Given the description of an element on the screen output the (x, y) to click on. 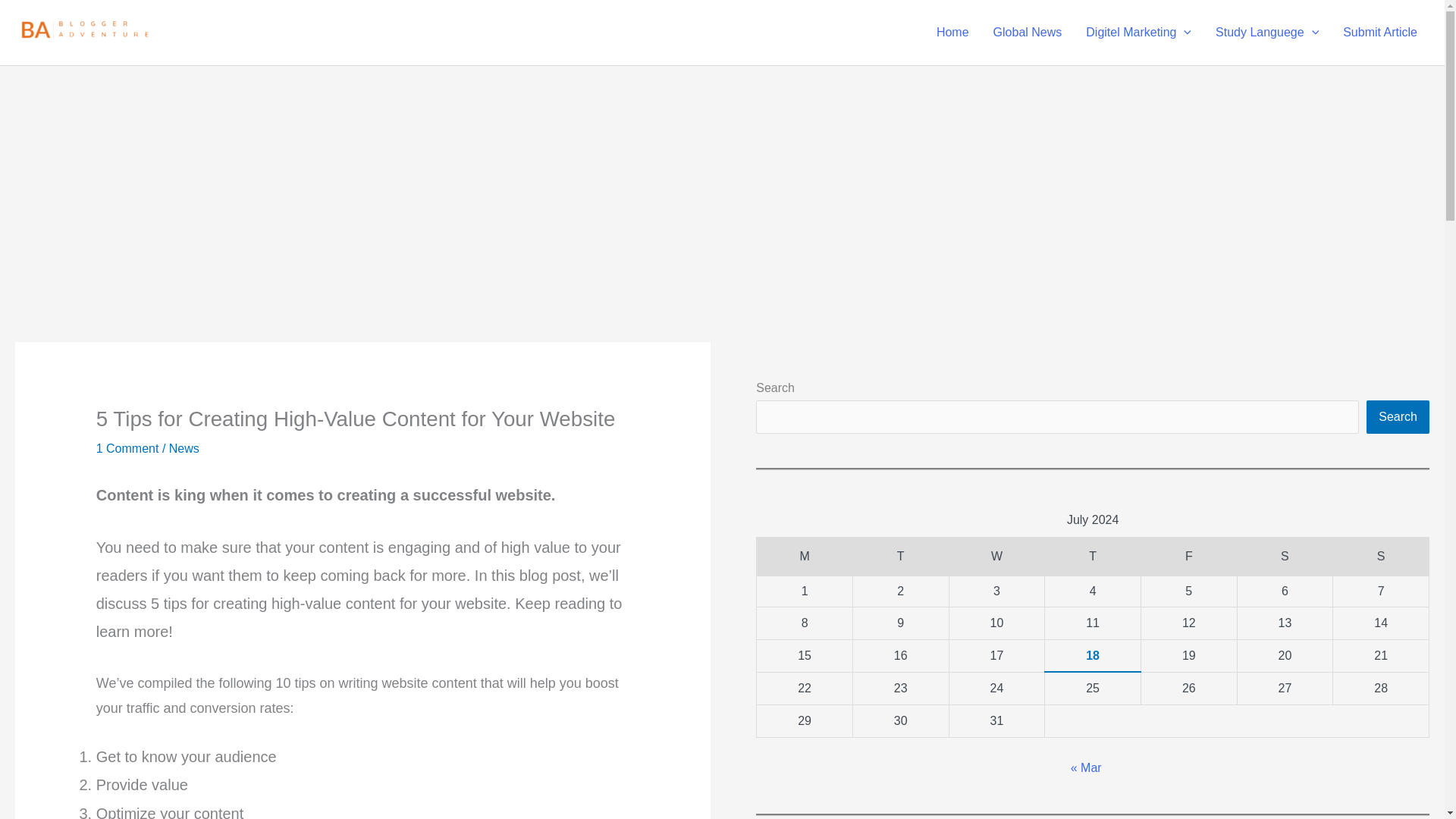
1 Comment (127, 448)
Study Languege (1267, 31)
Tuesday (900, 556)
Home (952, 31)
Wednesday (997, 556)
Global News (1027, 31)
Digitel Marketing (1139, 31)
Saturday (1284, 556)
Submit Article (1379, 31)
Monday (805, 556)
Friday (1188, 556)
Thursday (1093, 556)
Sunday (1381, 556)
News (183, 448)
